Given the description of an element on the screen output the (x, y) to click on. 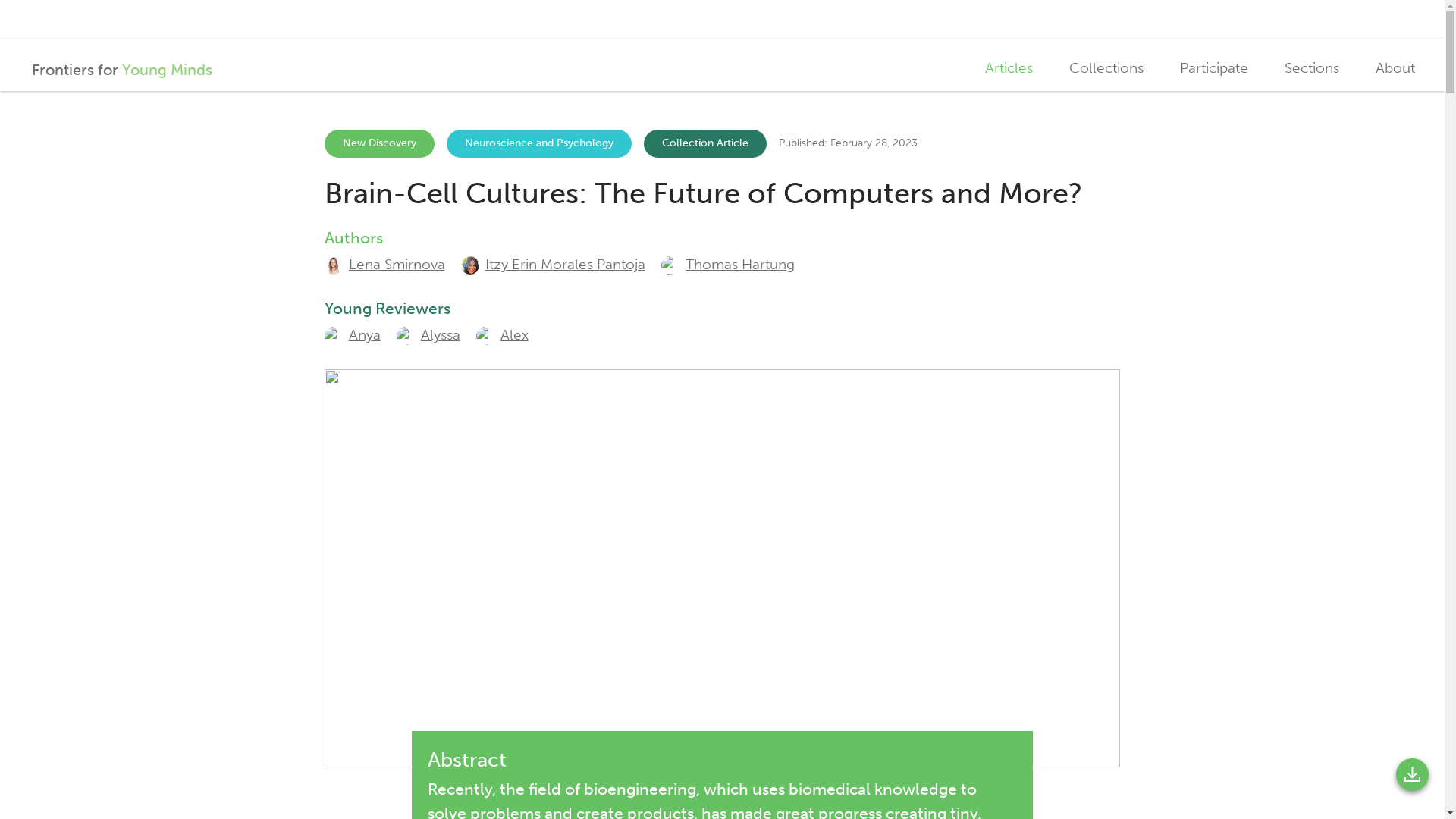
Itzy Erin Morales Pantoja (117, 65)
Articles (553, 264)
Lena Smirnova (1008, 68)
Alex (384, 264)
Participate (502, 335)
Neuroscience and Psychology (1213, 68)
Anya (544, 143)
Sections (352, 335)
Collection Article (1311, 68)
